Given the description of an element on the screen output the (x, y) to click on. 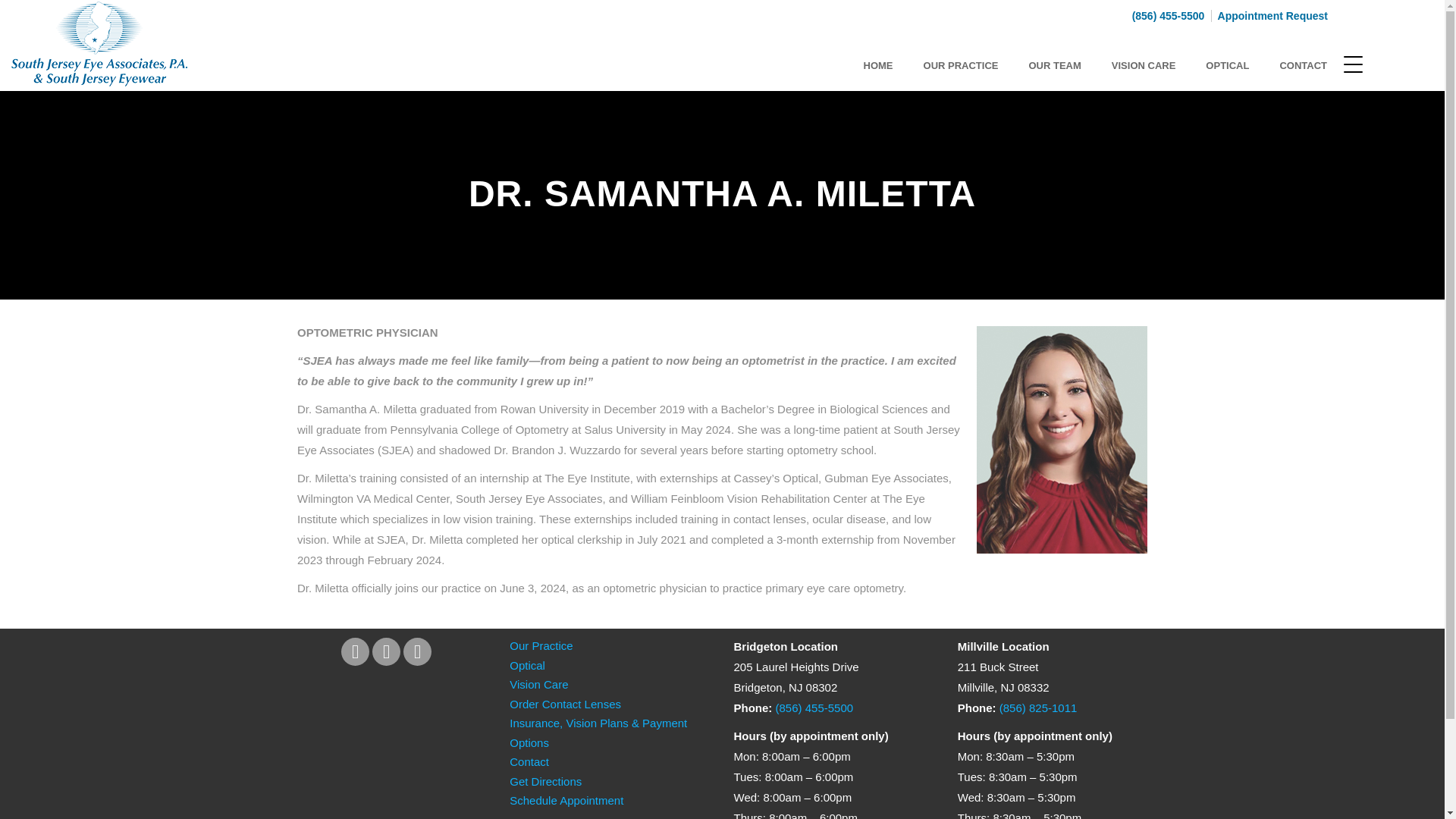
Our Practice (540, 645)
Contact (528, 761)
Order Contact Lenses (565, 703)
YouTube (386, 651)
Vision Care (538, 684)
Facebook (354, 651)
Optical (526, 664)
Appointment Request (1270, 15)
Instagram (416, 651)
OUR TEAM (1054, 65)
Schedule Appointment (566, 799)
Get Directions (544, 780)
CONTACT (1302, 65)
OPTICAL (1227, 65)
OUR PRACTICE (960, 65)
